Given the description of an element on the screen output the (x, y) to click on. 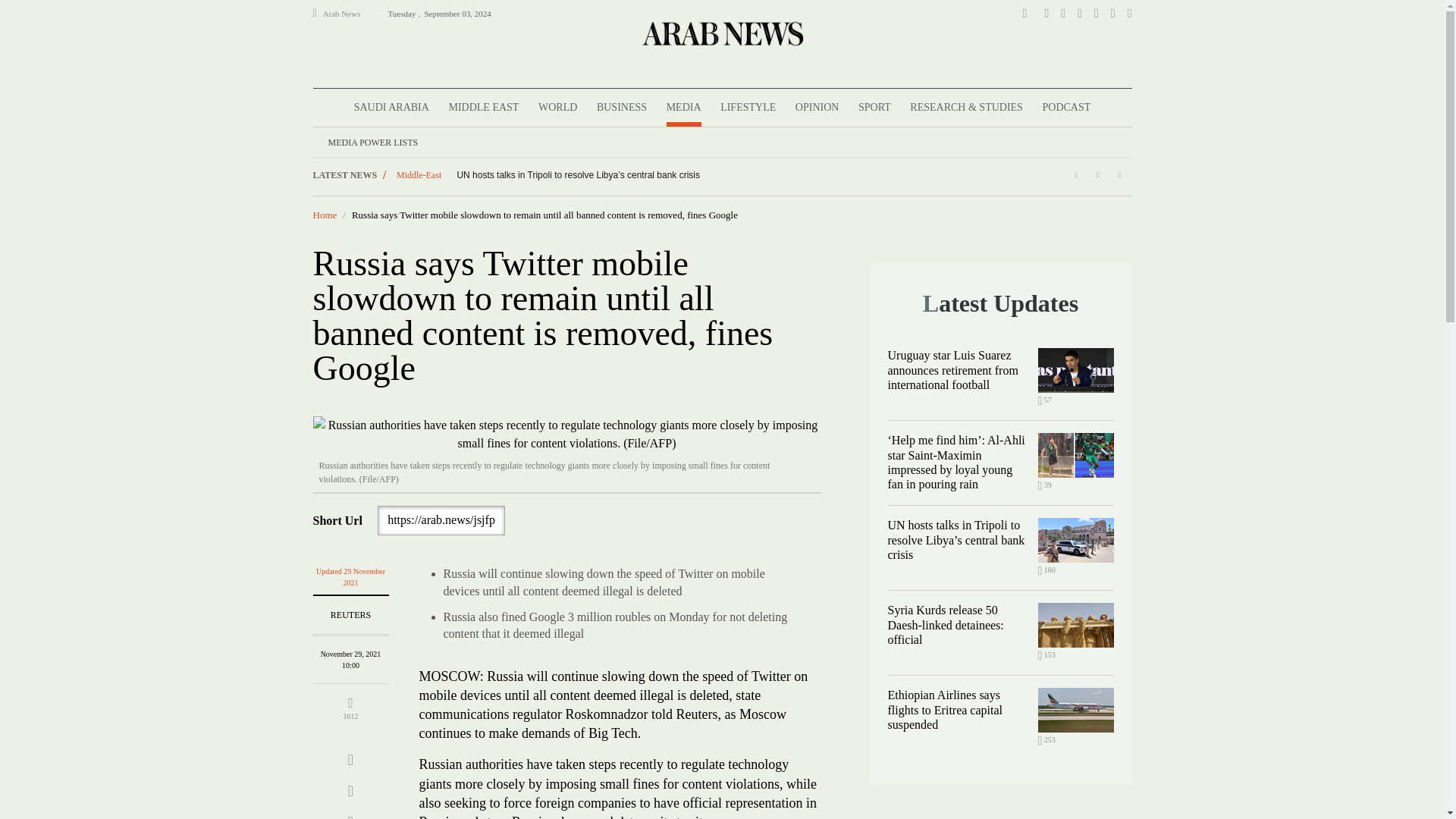
Arabnews (721, 33)
Ethiopian Airlines says flights to Eritrea capital suspended (1074, 709)
Syria Kurds release 50 Daesh-linked detainees: official (1074, 624)
Arab News (348, 13)
